Given the description of an element on the screen output the (x, y) to click on. 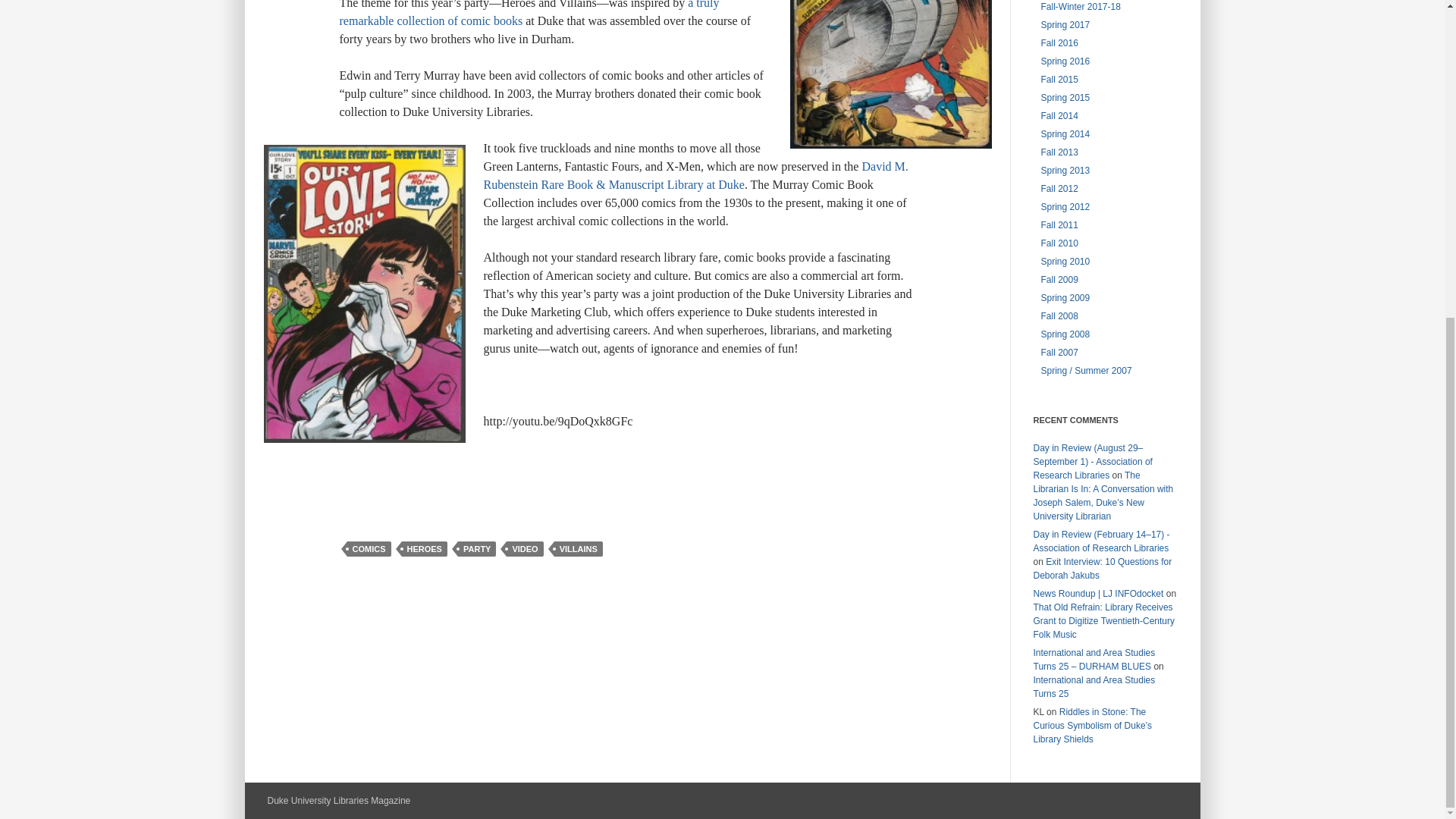
PARTY (477, 548)
VIDEO (524, 548)
Fall 2016 (1059, 42)
Fall-Winter 2017-18 (1080, 6)
a truly remarkable collection of comic books (529, 13)
Spring 2015 (1065, 97)
Spring 2014 (1065, 133)
HEROES (423, 548)
VILLAINS (578, 548)
COMICS (369, 548)
